Given the description of an element on the screen output the (x, y) to click on. 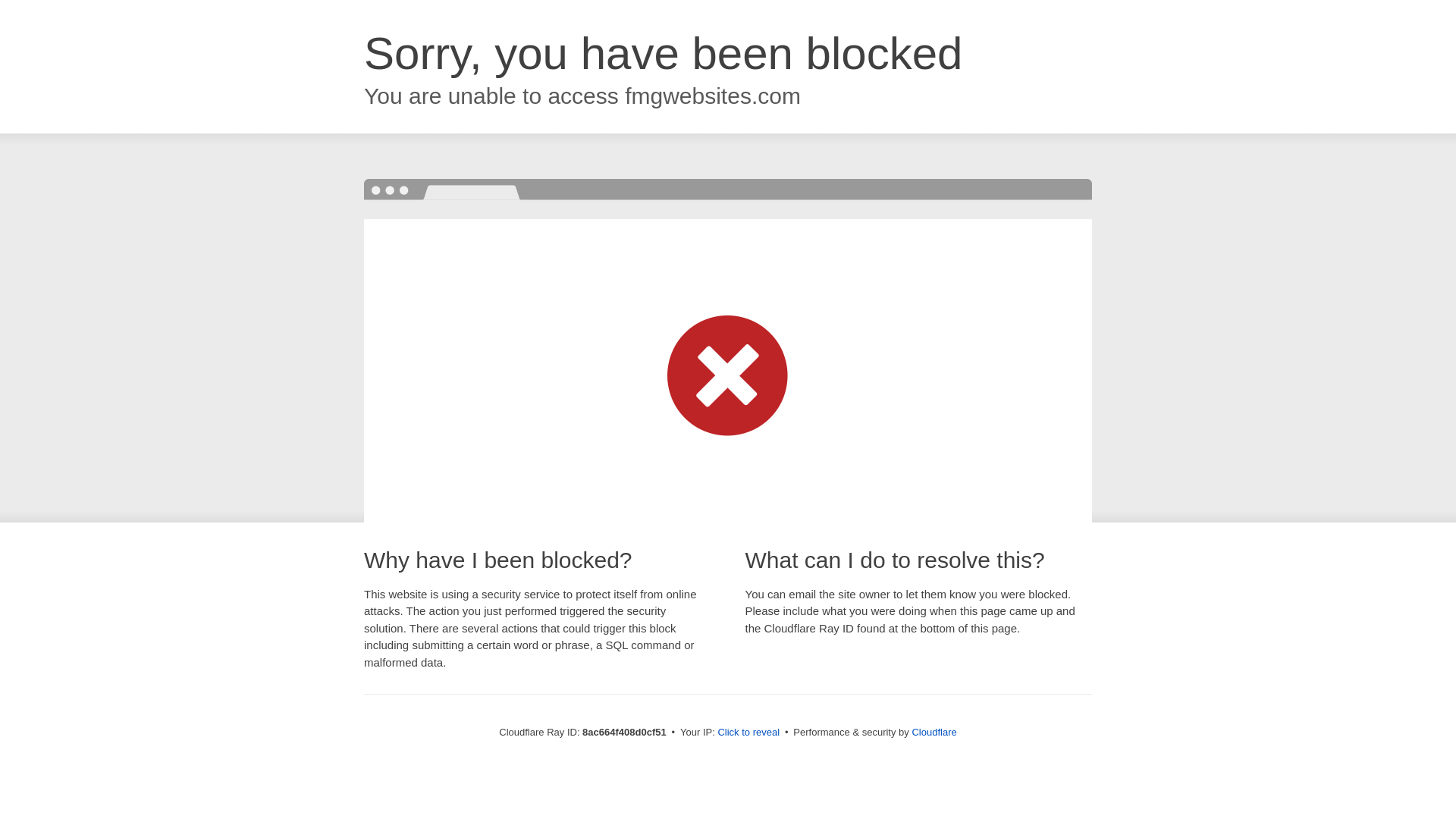
Cloudflare (933, 731)
Click to reveal (747, 732)
